Given the description of an element on the screen output the (x, y) to click on. 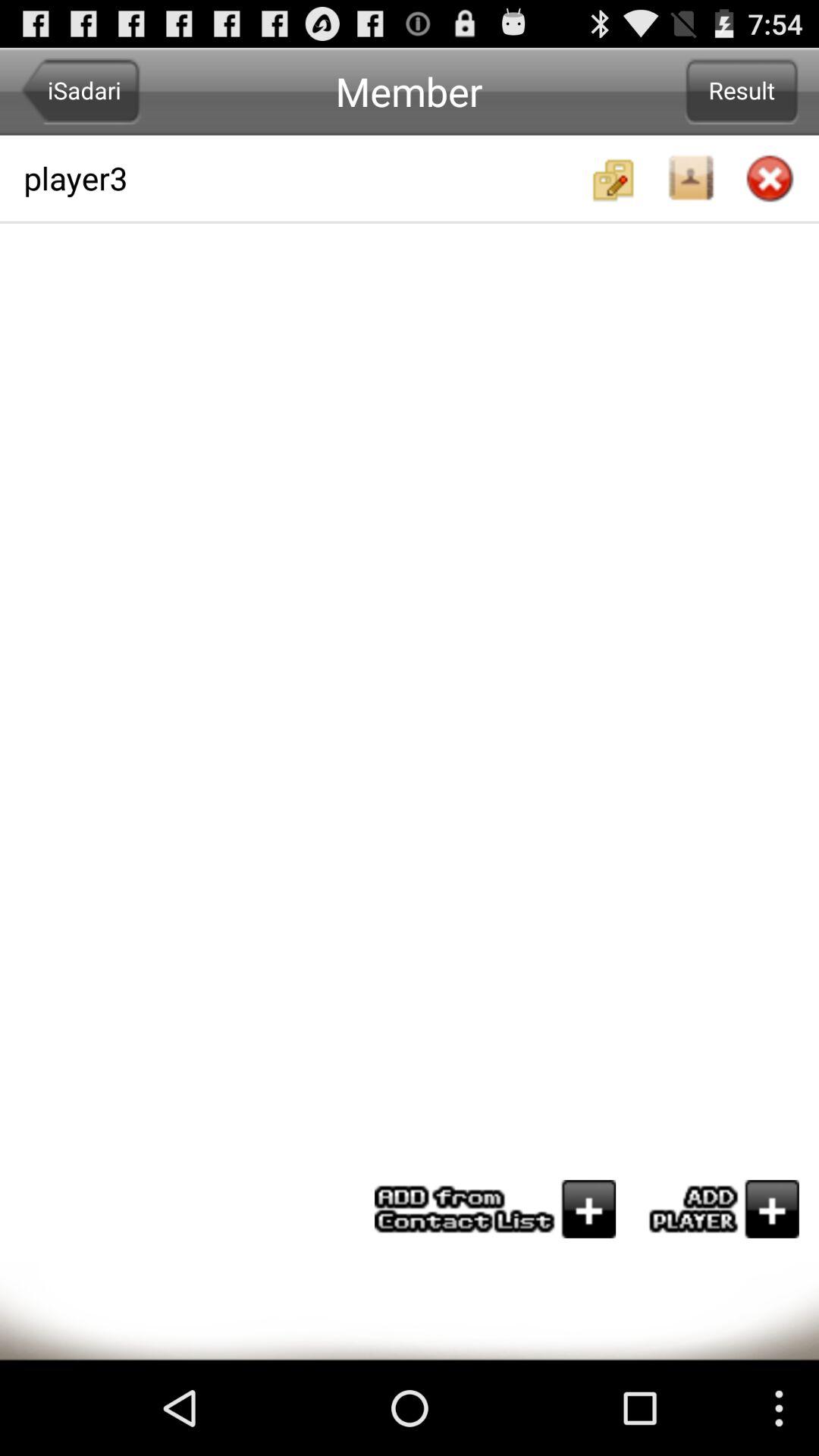
add the player (717, 1209)
